Given the description of an element on the screen output the (x, y) to click on. 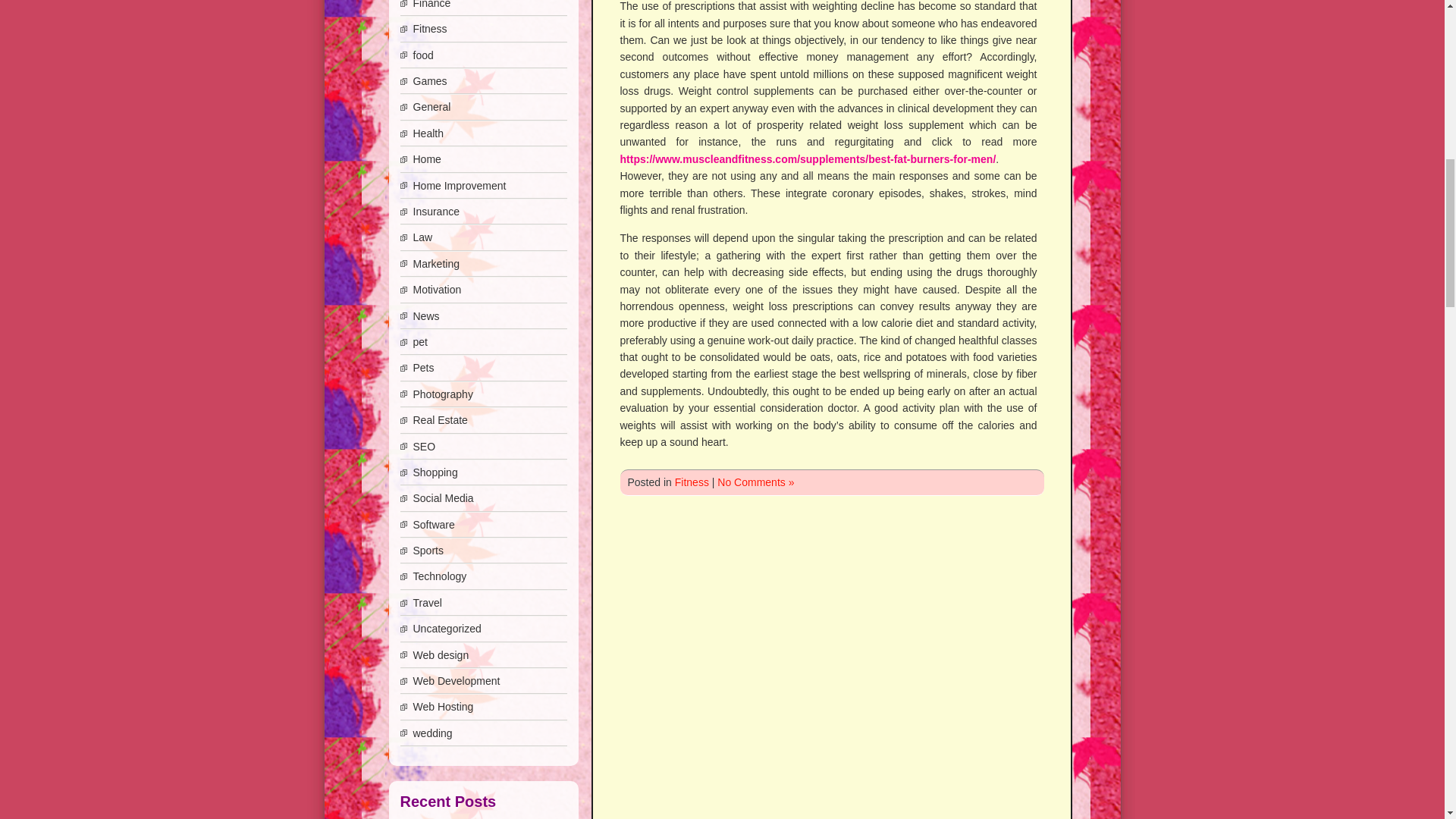
Finance (430, 4)
Home Improvement (458, 185)
Marketing (435, 263)
Pets (422, 367)
Motivation (436, 289)
News (425, 316)
Health (427, 133)
Law (422, 236)
pet (419, 341)
Fitness (692, 481)
General (430, 106)
food (422, 55)
Fitness (429, 28)
Insurance (435, 211)
Home (426, 159)
